Given the description of an element on the screen output the (x, y) to click on. 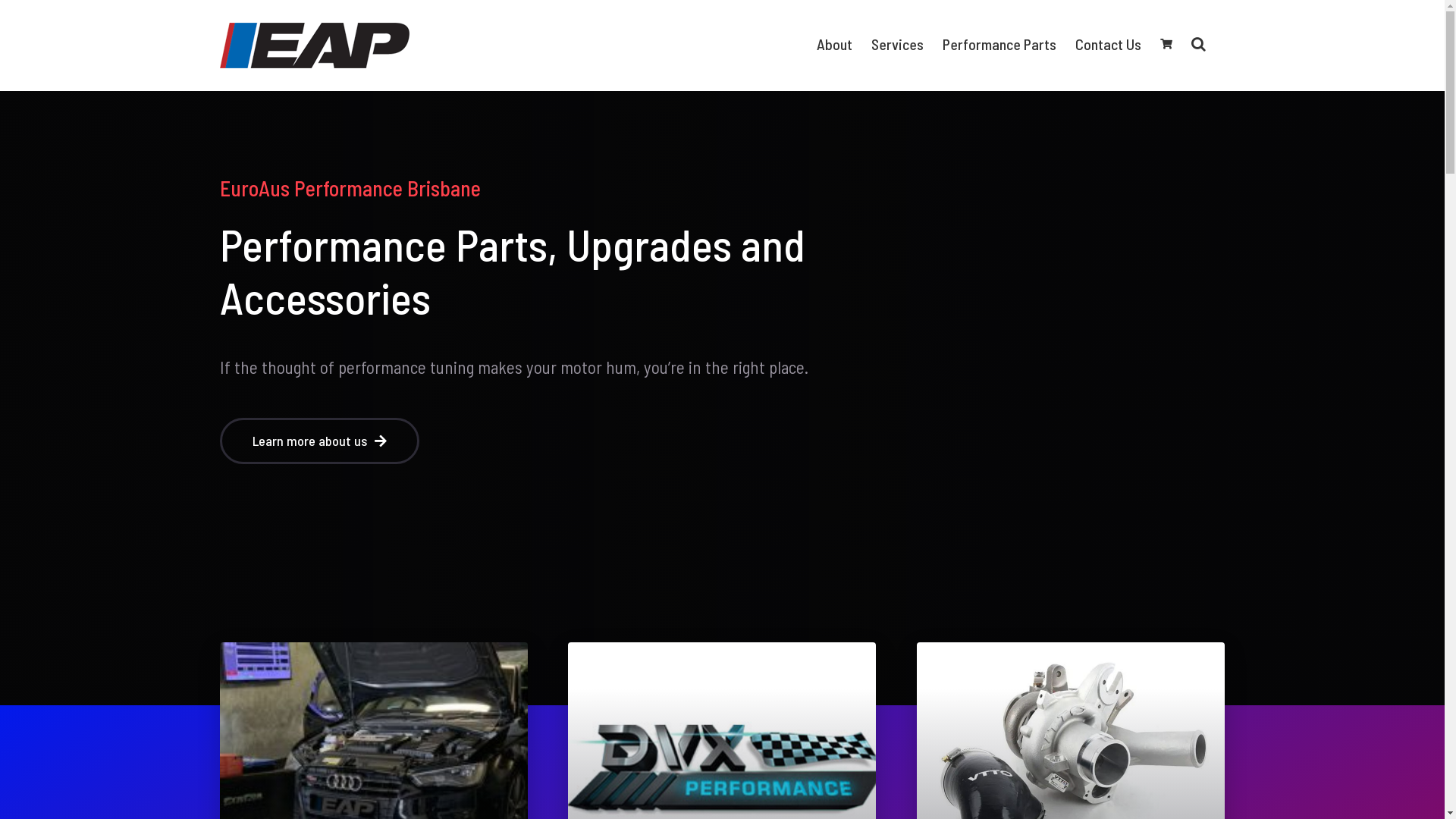
Contact Us Element type: text (1108, 43)
Performance Parts Element type: text (999, 43)
About Element type: text (834, 43)
Services Element type: text (897, 43)
Search Element type: hover (1198, 43)
Learn more about us Element type: text (319, 440)
